Given the description of an element on the screen output the (x, y) to click on. 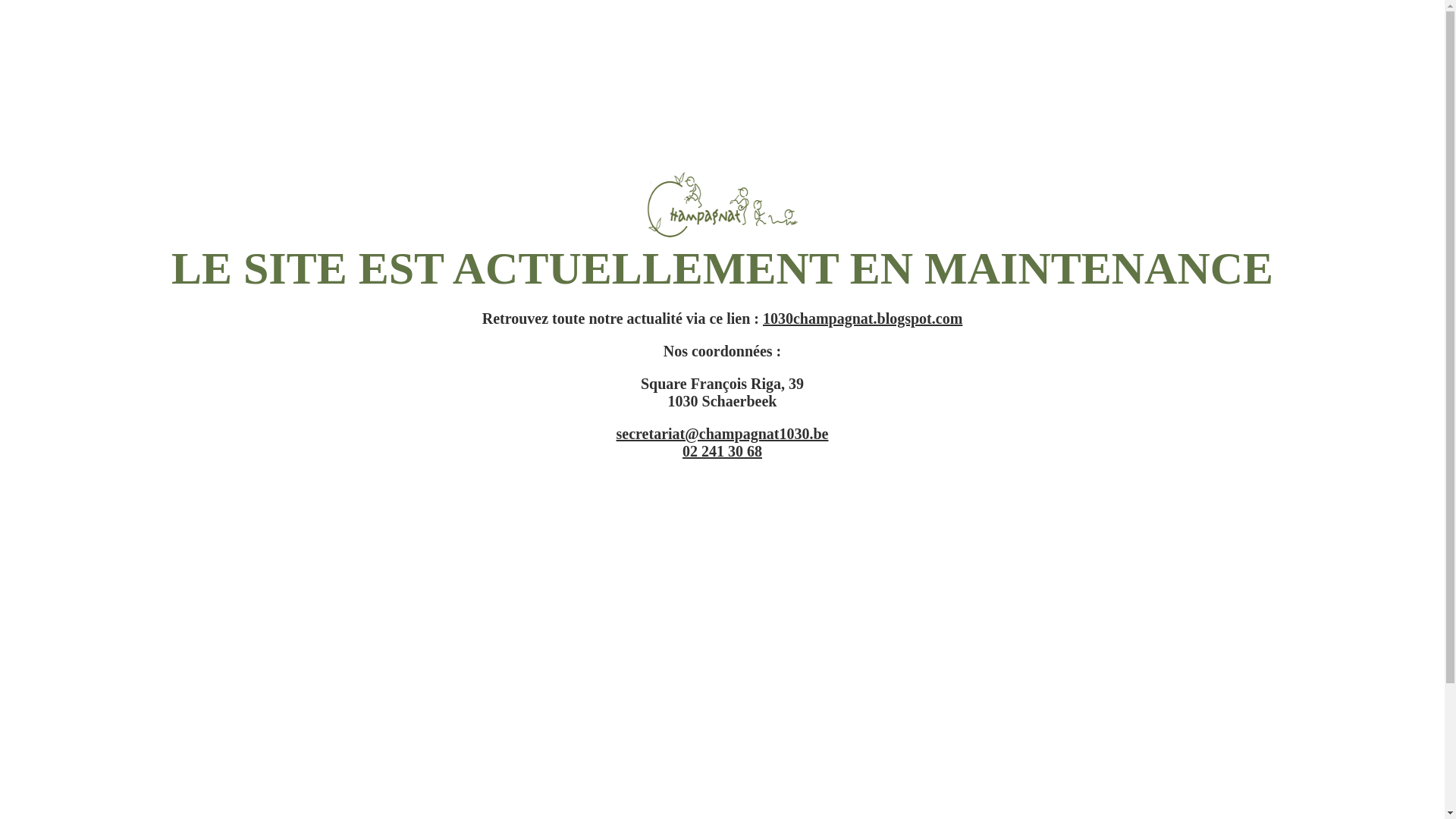
secretariat@champagnat1030.be Element type: text (722, 433)
02 241 30 68 Element type: text (722, 450)
1030champagnat.blogspot.com Element type: text (862, 318)
